Given the description of an element on the screen output the (x, y) to click on. 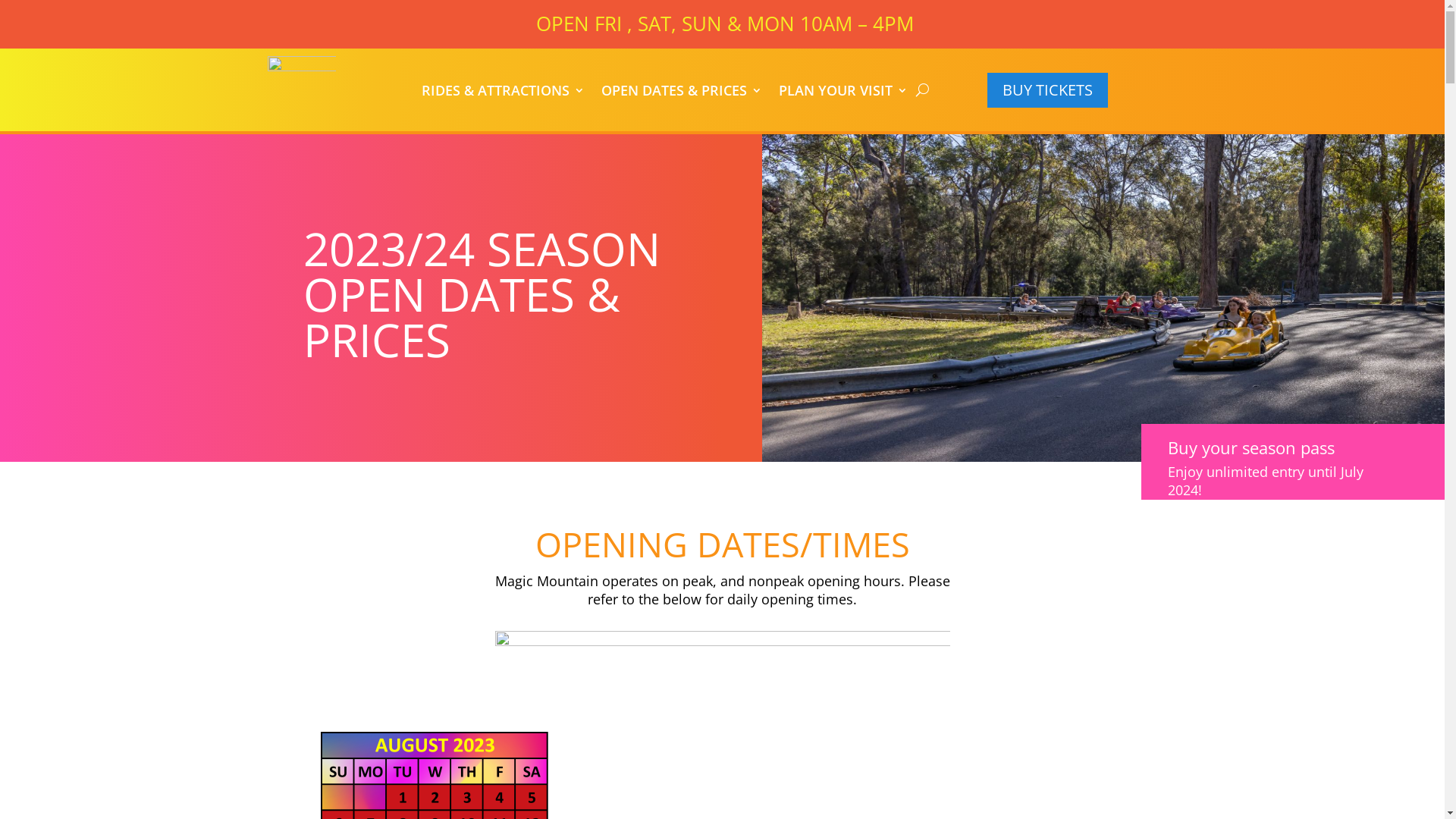
OPEN DATES & PRICES Element type: text (681, 89)
PLAN YOUR VISIT Element type: text (842, 89)
BUY TICKETS Element type: text (1047, 89)
RIDES & ATTRACTIONS Element type: text (502, 89)
Key Element type: hover (721, 669)
